Given the description of an element on the screen output the (x, y) to click on. 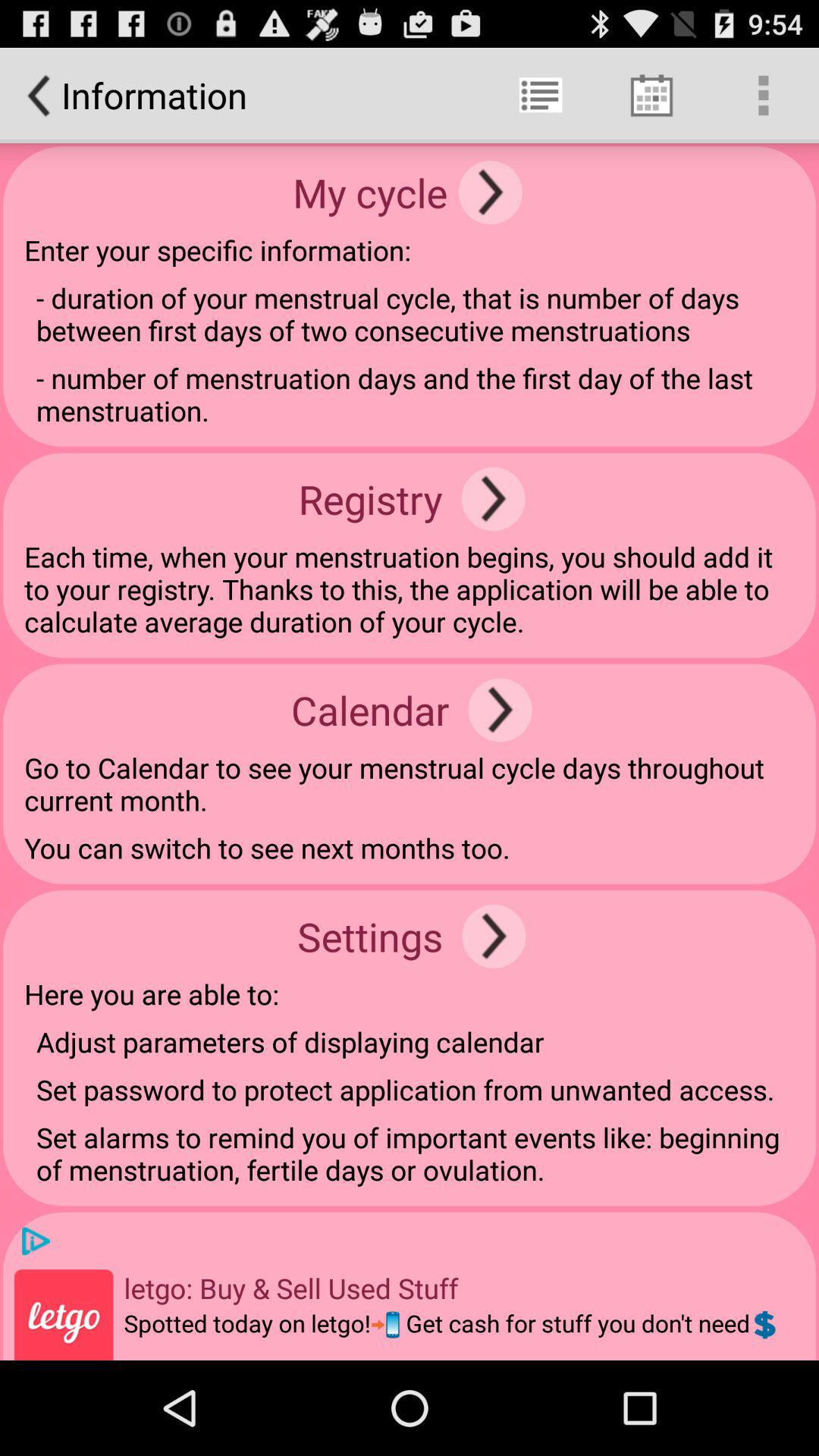
launch item to the right of registry (493, 499)
